Given the description of an element on the screen output the (x, y) to click on. 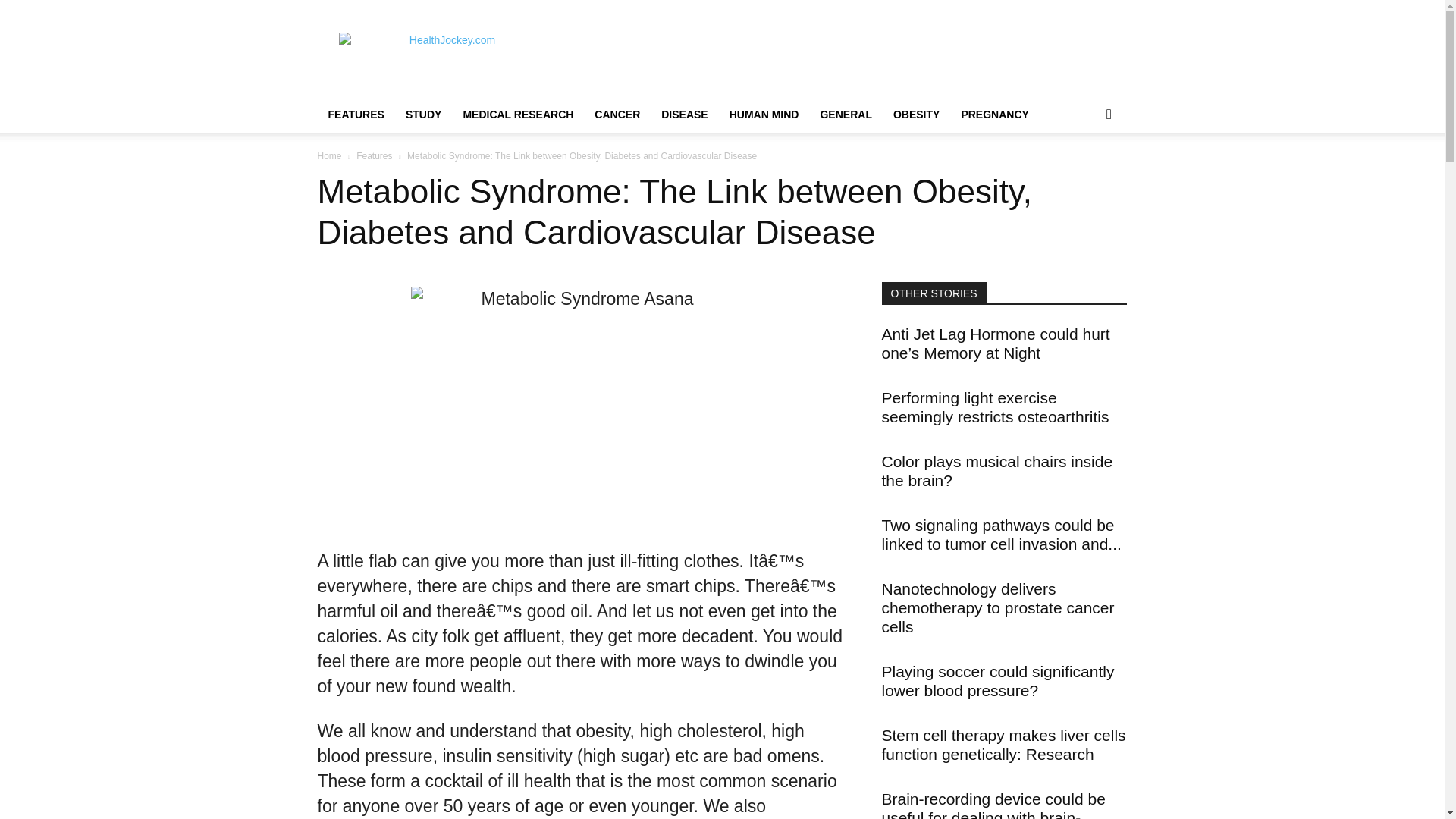
Performing light exercise seemingly restricts osteoarthritis (994, 407)
CANCER (616, 114)
View all posts in Features (373, 155)
GENERAL (845, 114)
STUDY (422, 114)
DISEASE (683, 114)
HUMAN MIND (764, 114)
OBESITY (916, 114)
FEATURES (355, 114)
Home (328, 155)
Features (373, 155)
